Given the description of an element on the screen output the (x, y) to click on. 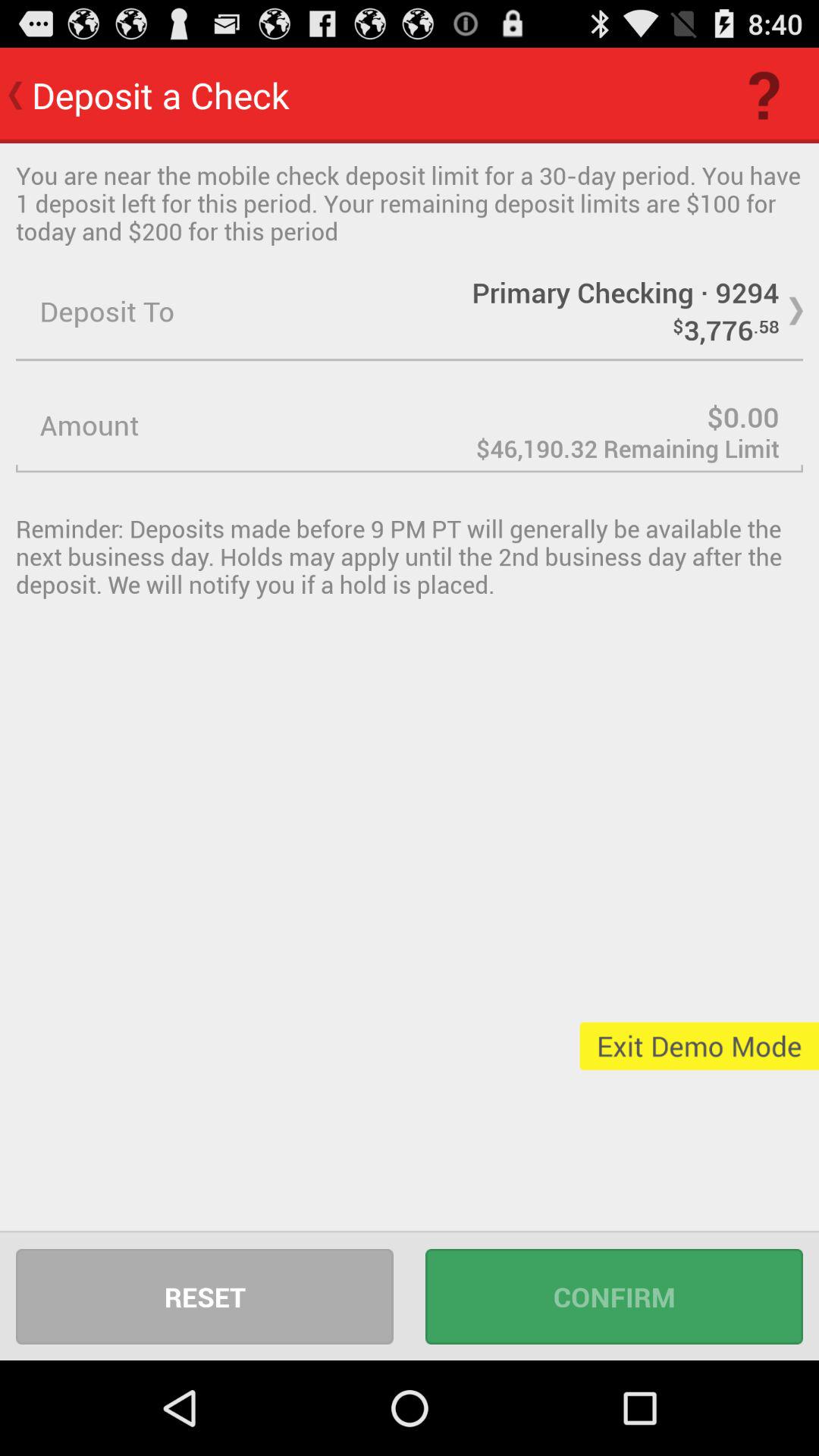
tap item at the bottom right corner (614, 1296)
